Given the description of an element on the screen output the (x, y) to click on. 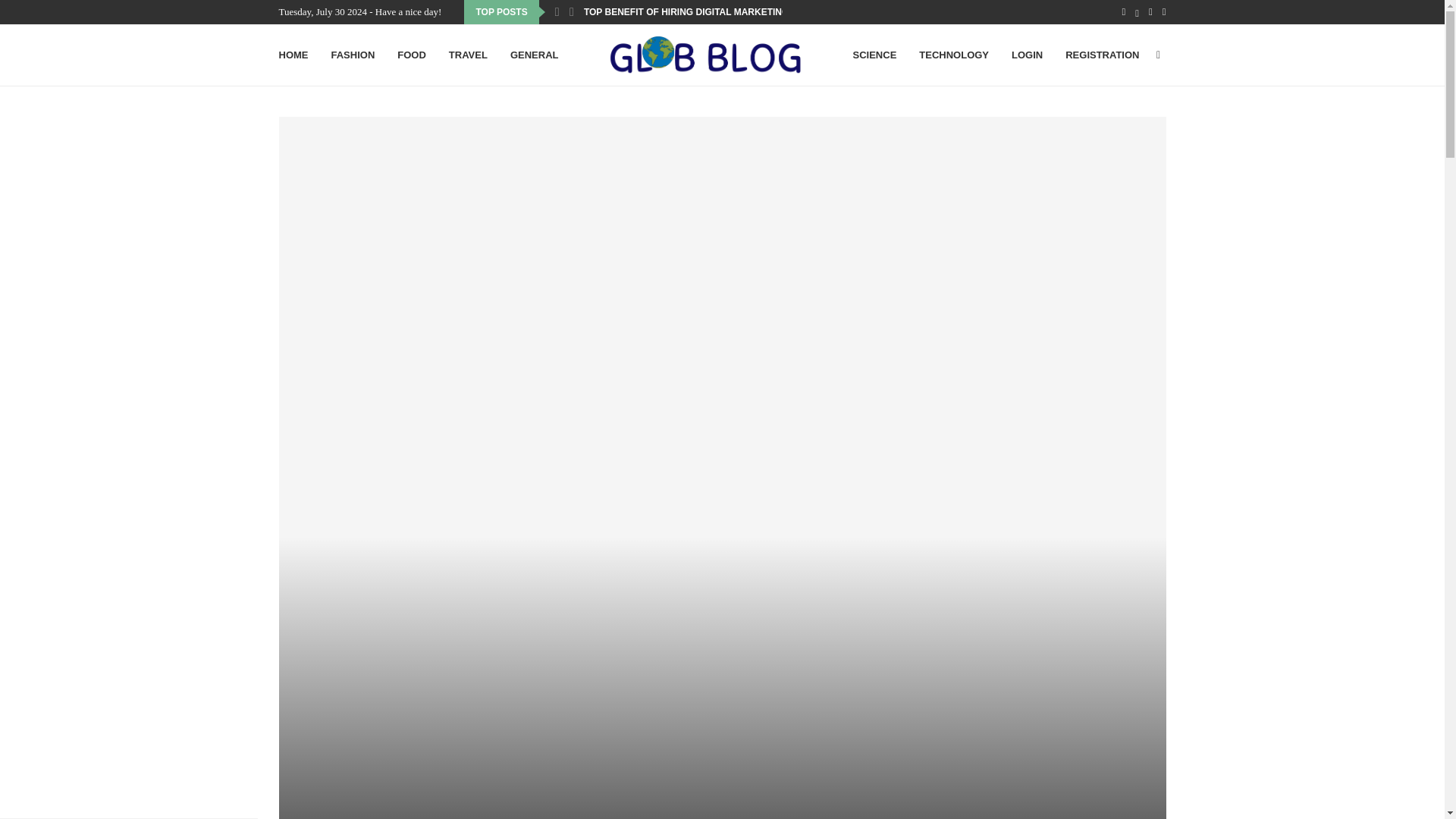
REGISTRATION (1101, 55)
TOP BENEFIT OF HIRING DIGITAL MARKETING AGENCY IN... (715, 12)
TECHNOLOGY (953, 55)
